Given the description of an element on the screen output the (x, y) to click on. 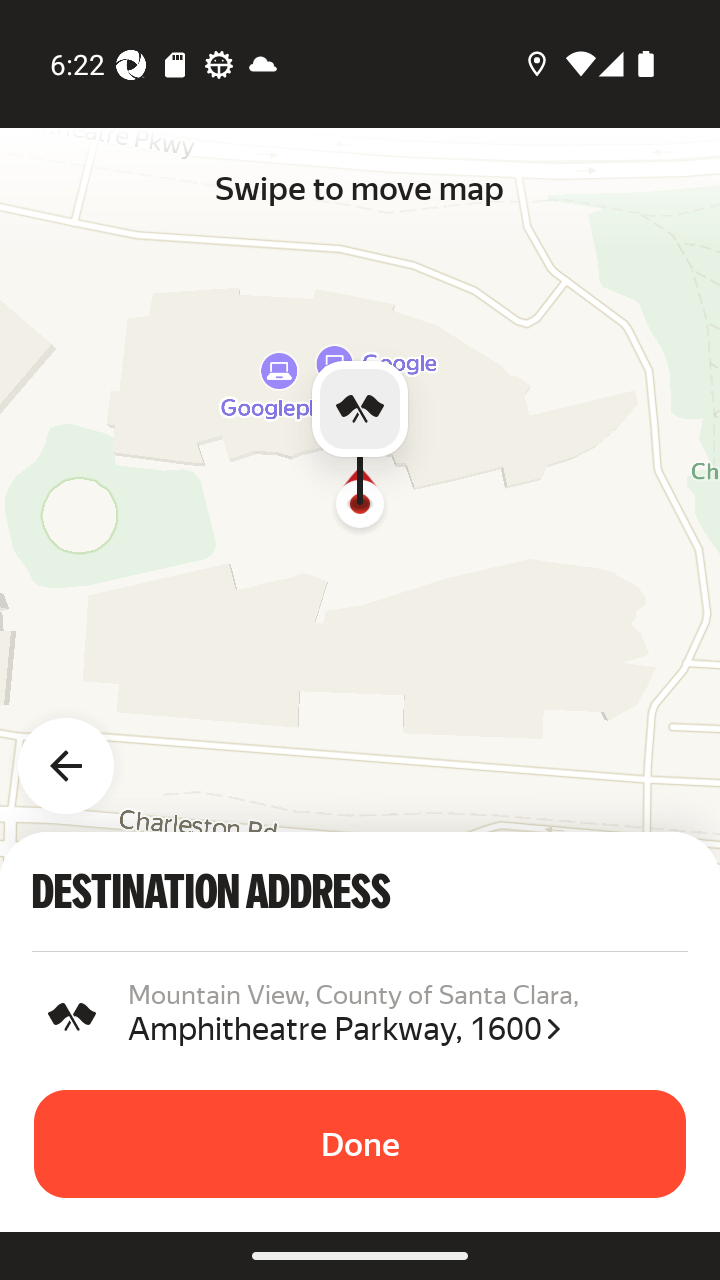
Back (78, 753)
Done (359, 1144)
